Given the description of an element on the screen output the (x, y) to click on. 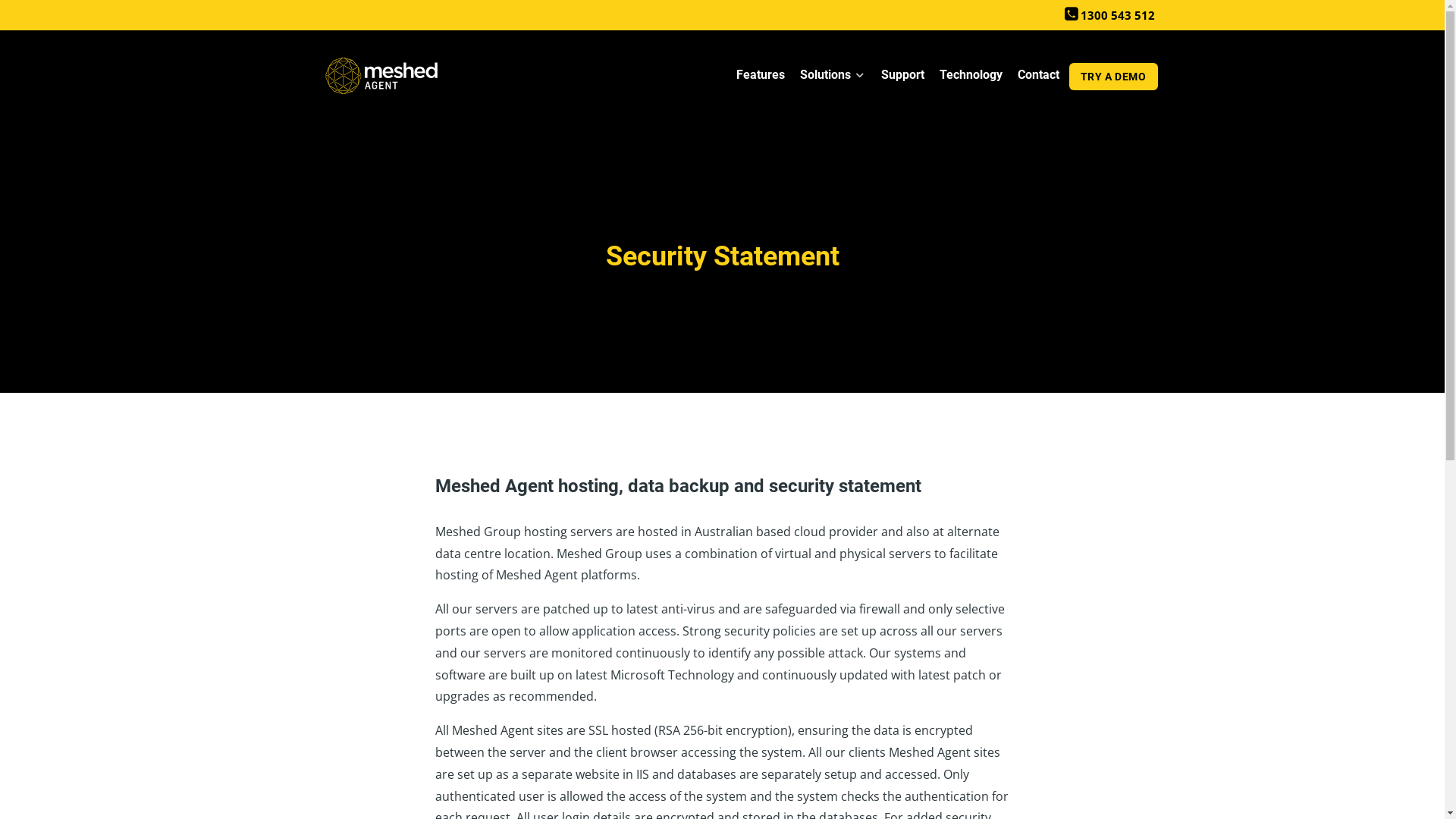
TRY A DEMO Element type: text (1113, 76)
Solutions Element type: text (833, 76)
Technology Element type: text (970, 76)
Contact Element type: text (1038, 76)
1300 543 512 Element type: text (1109, 14)
Support Element type: text (902, 76)
Features Element type: text (760, 76)
